Given the description of an element on the screen output the (x, y) to click on. 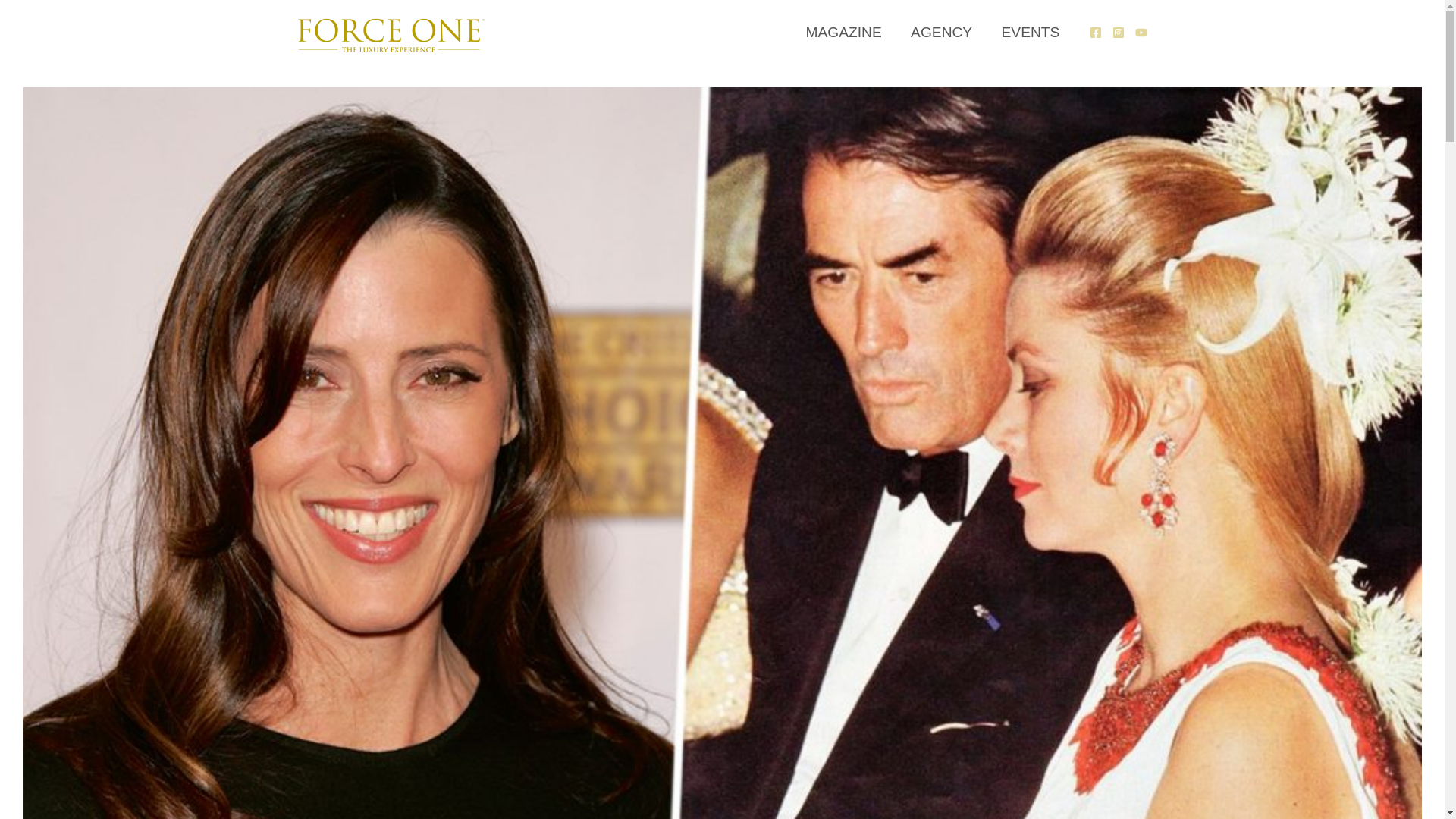
EVENTS (1030, 31)
AGENCY (941, 31)
MAGAZINE (843, 31)
